Given the description of an element on the screen output the (x, y) to click on. 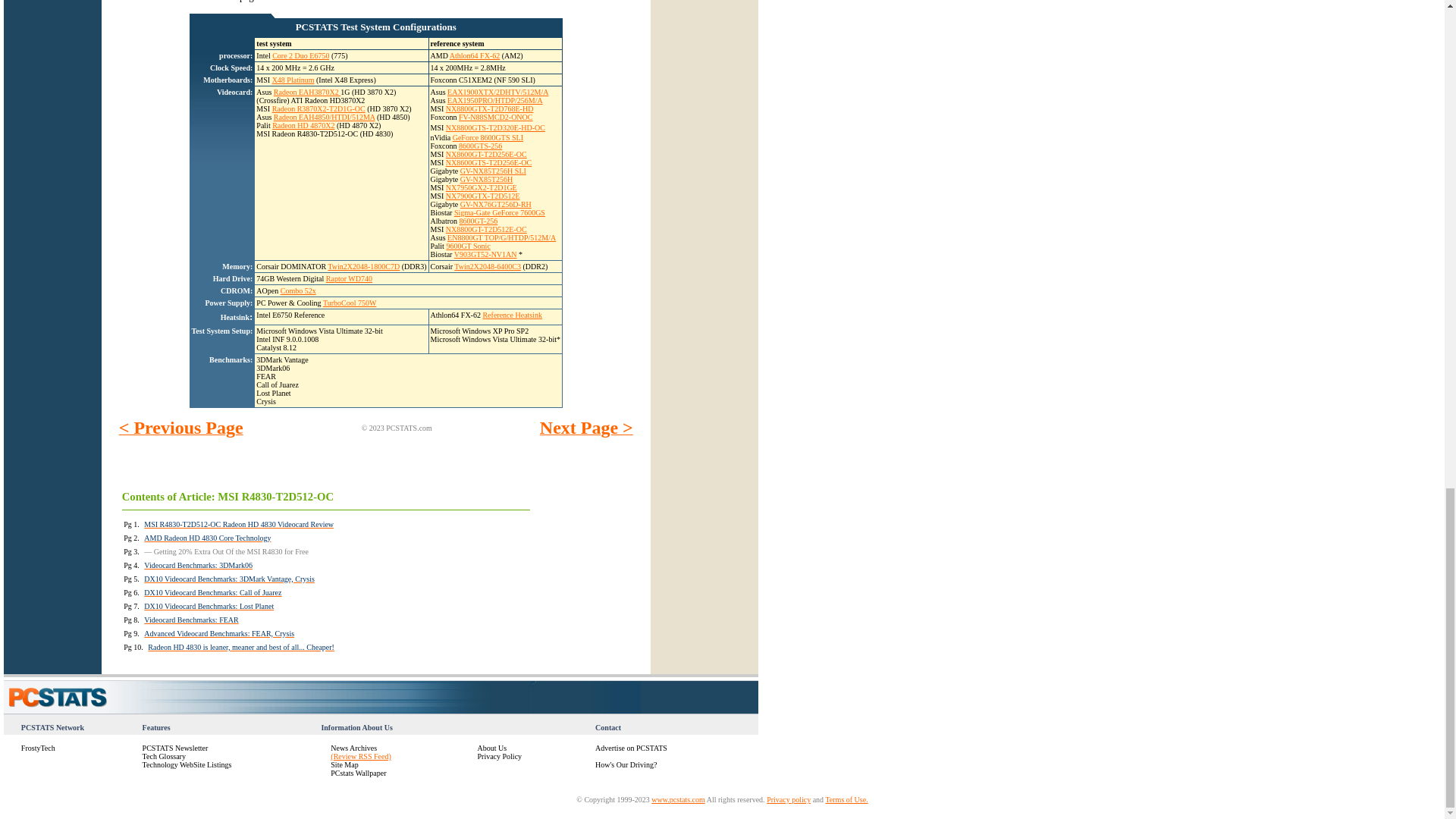
8600GTS-256 (480, 145)
Radeon R3870X2-T2D1G-OC (318, 108)
X48 Platinum (293, 80)
Athlon64 FX-62 (474, 55)
GV-NX85T256H (486, 179)
NX8800GTX-T2D768E-HD (489, 108)
NX7950GX2-T2D1GE (480, 187)
NX7900GTX-T2D512E (482, 195)
